Given the description of an element on the screen output the (x, y) to click on. 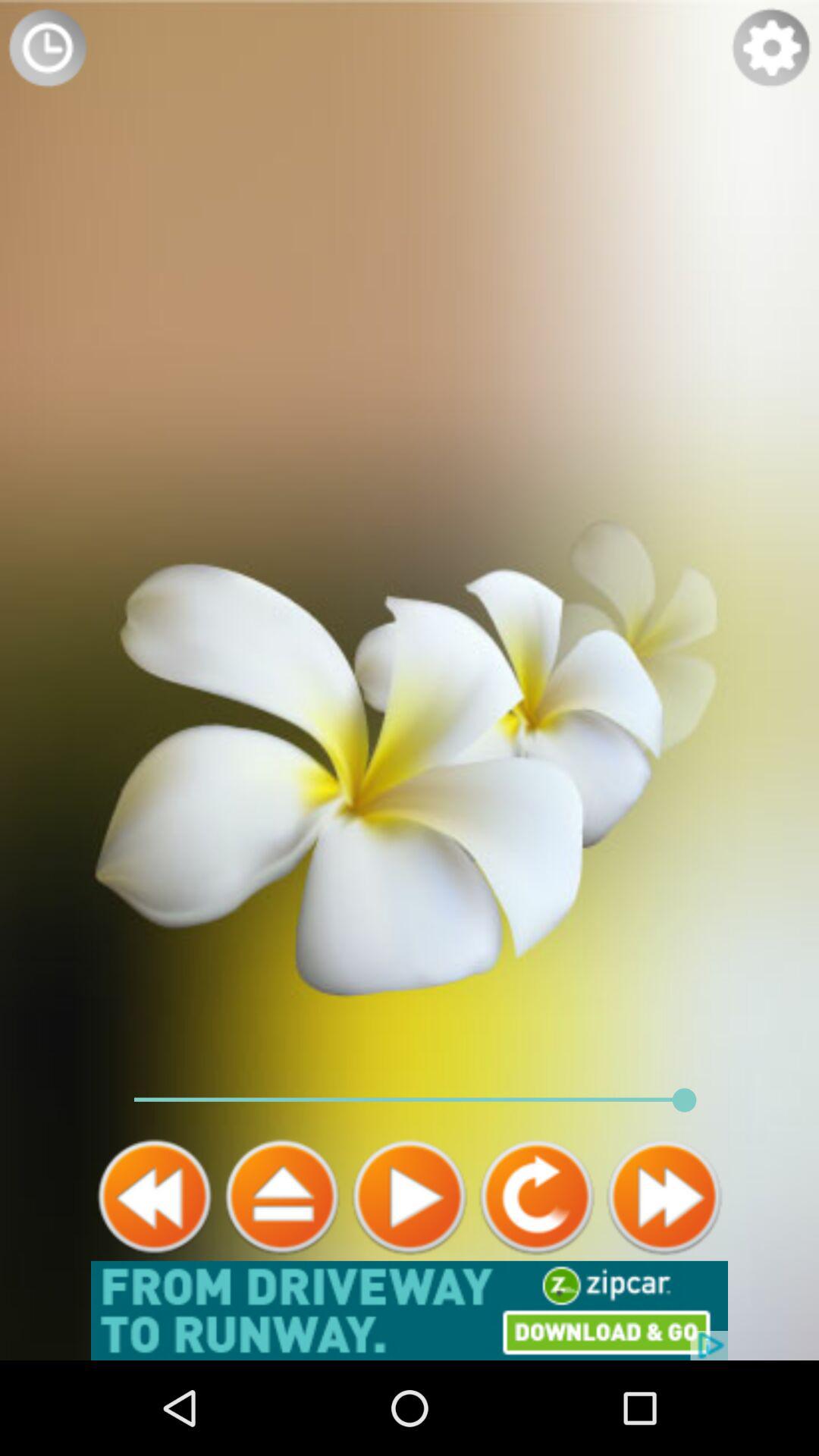
go to menu (281, 1196)
